Given the description of an element on the screen output the (x, y) to click on. 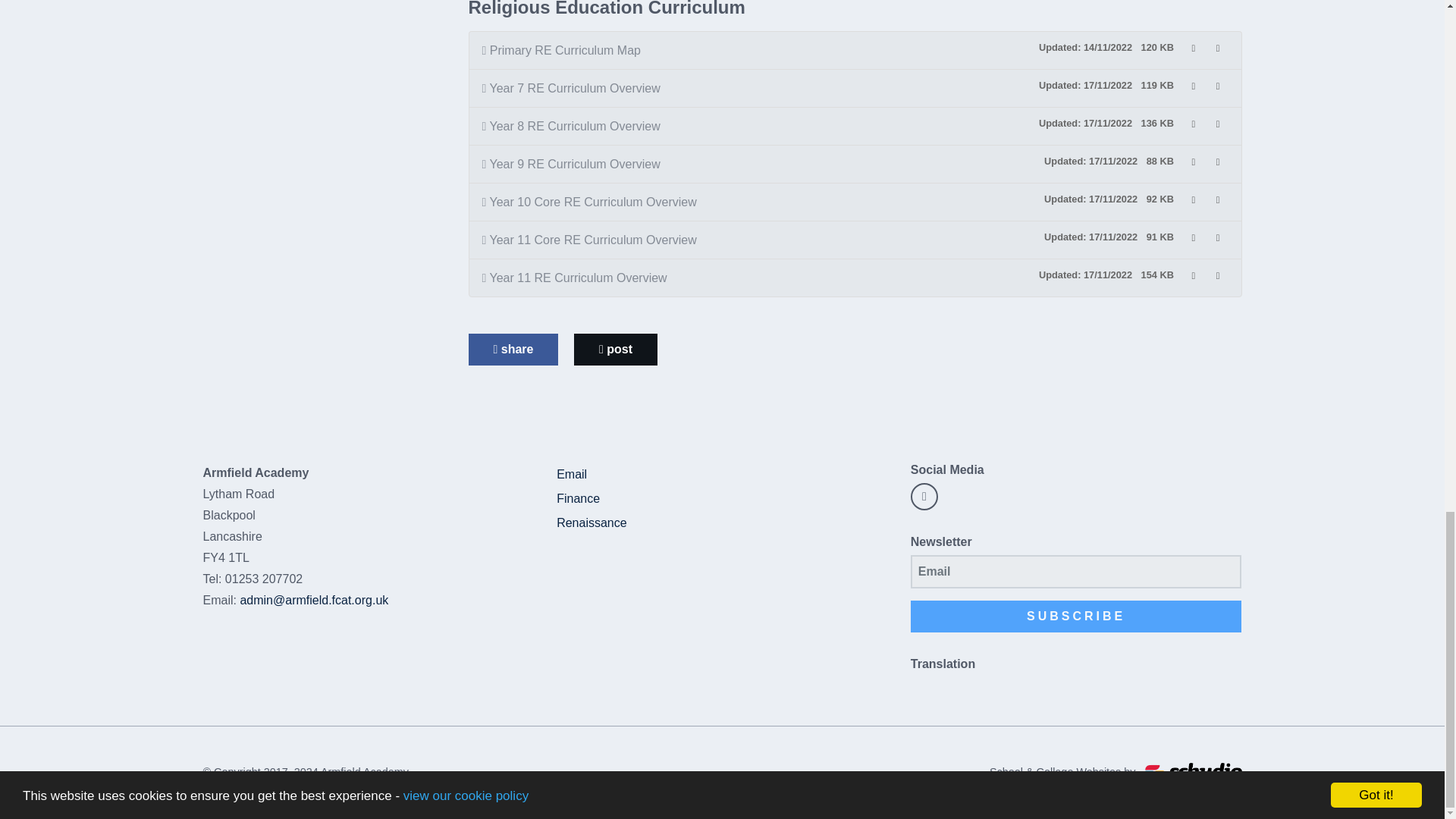
Post on X (615, 349)
X (924, 496)
Share on Facebook (513, 349)
